Given the description of an element on the screen output the (x, y) to click on. 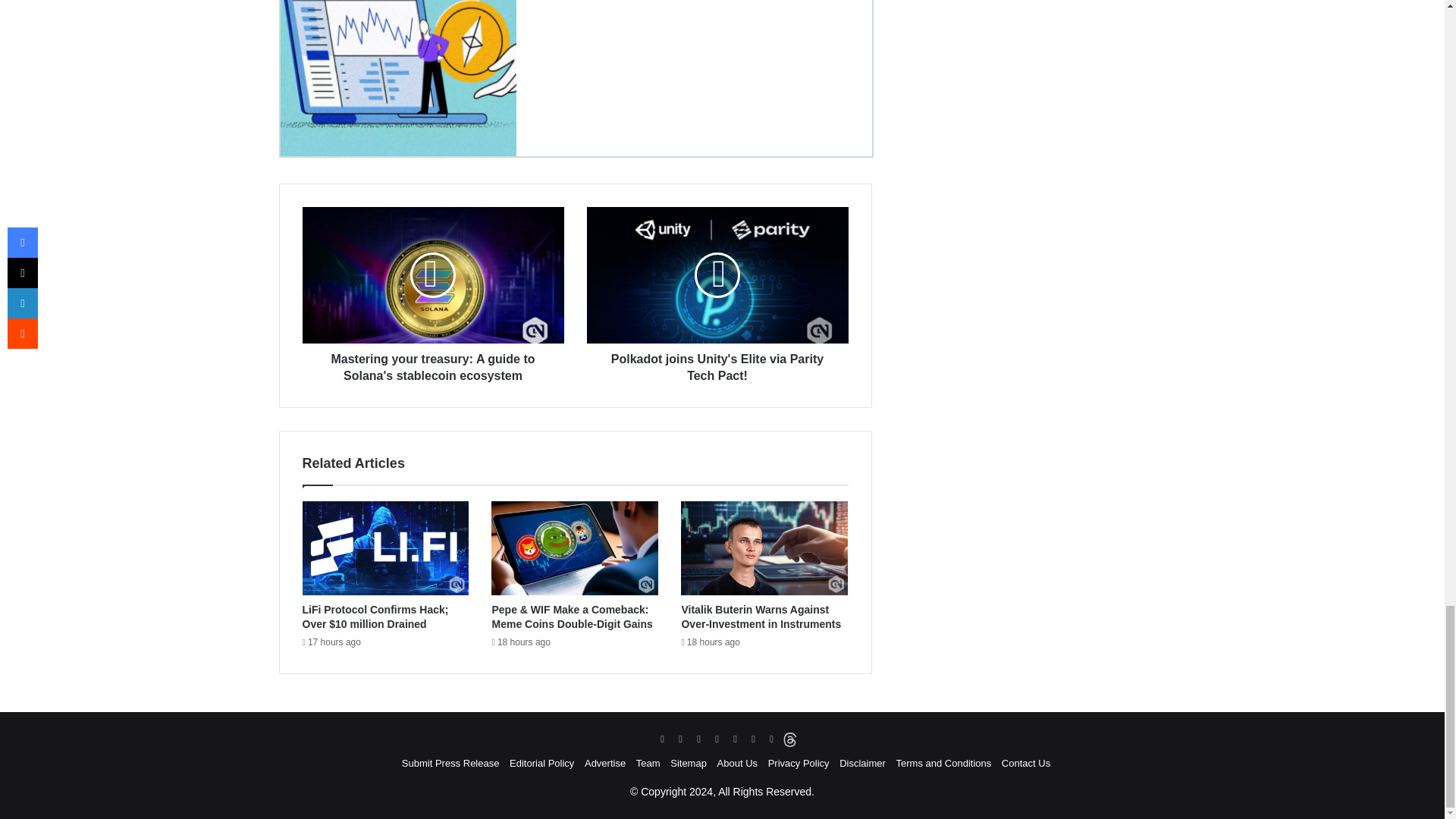
Vitalik Buterin Warns Against Over-Investment in Instruments (764, 548)
